Given the description of an element on the screen output the (x, y) to click on. 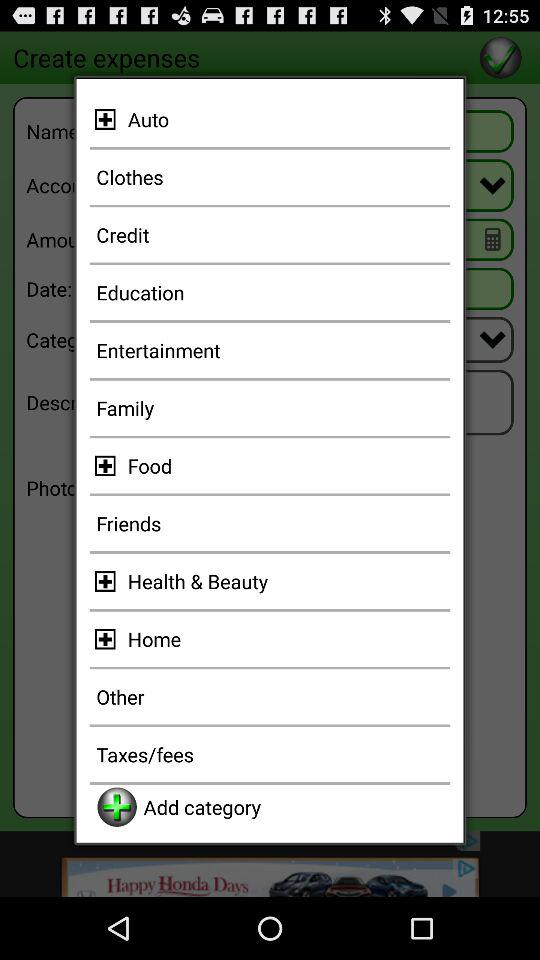
option to expand or open (108, 581)
